Given the description of an element on the screen output the (x, y) to click on. 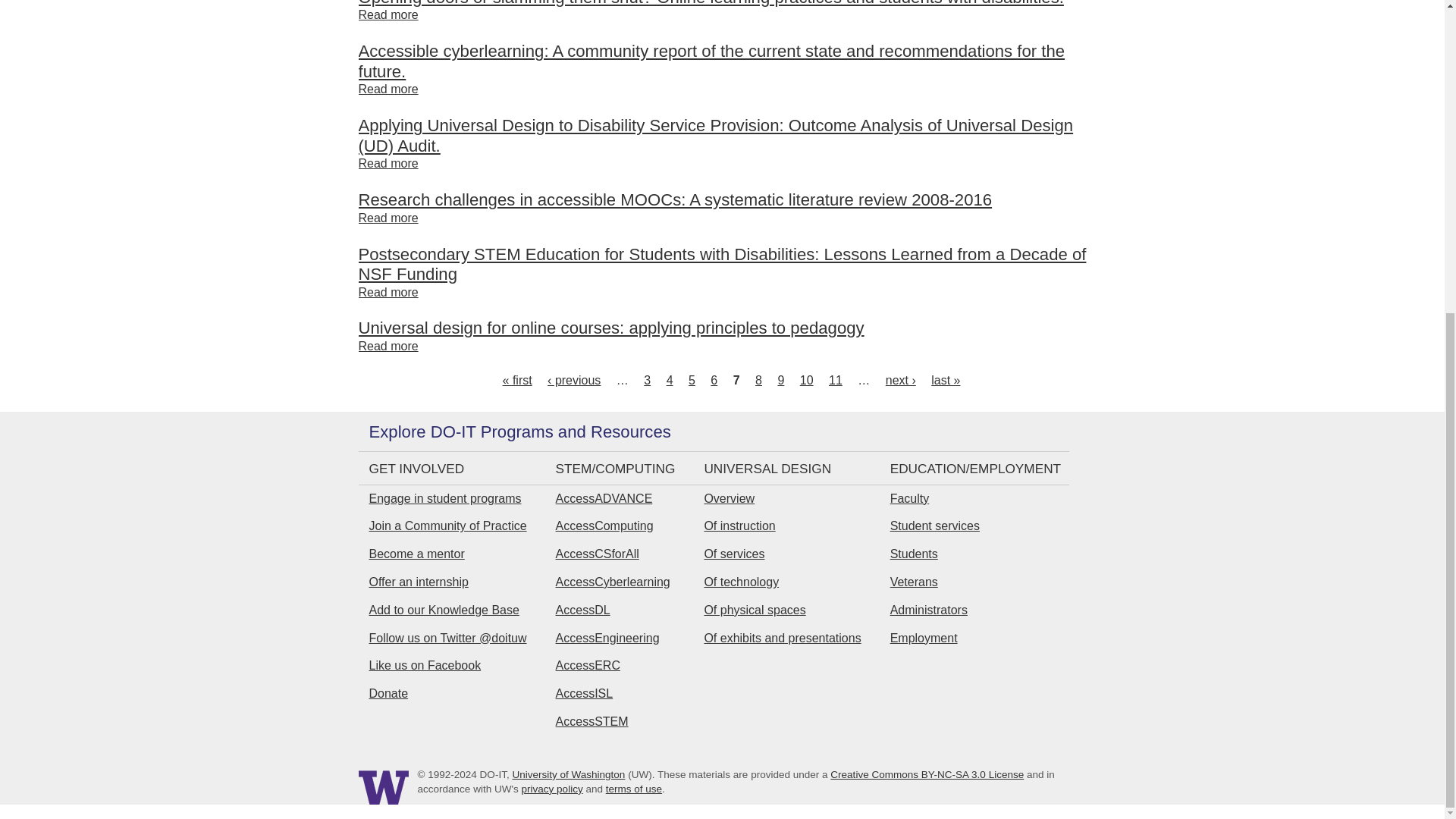
Go to previous page (573, 379)
Go to first page (517, 379)
